Given the description of an element on the screen output the (x, y) to click on. 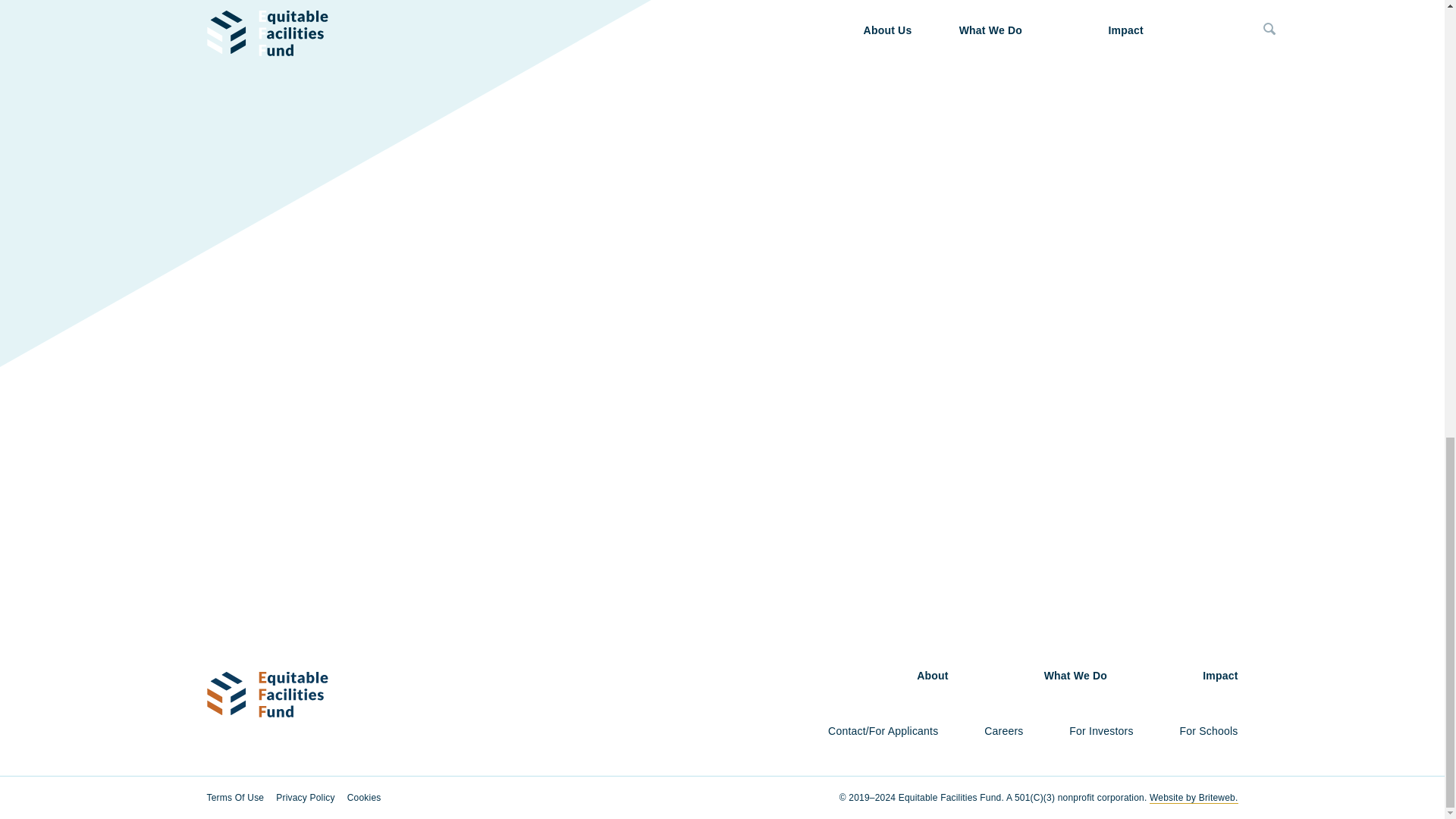
About (932, 675)
Website by Briteweb. (1194, 797)
Careers (1003, 730)
Terms Of Use (241, 797)
For Investors (1100, 730)
Impact (1219, 675)
Privacy Policy (311, 797)
For Schools (1209, 730)
What We Do (1074, 675)
Cookies (370, 797)
